Given the description of an element on the screen output the (x, y) to click on. 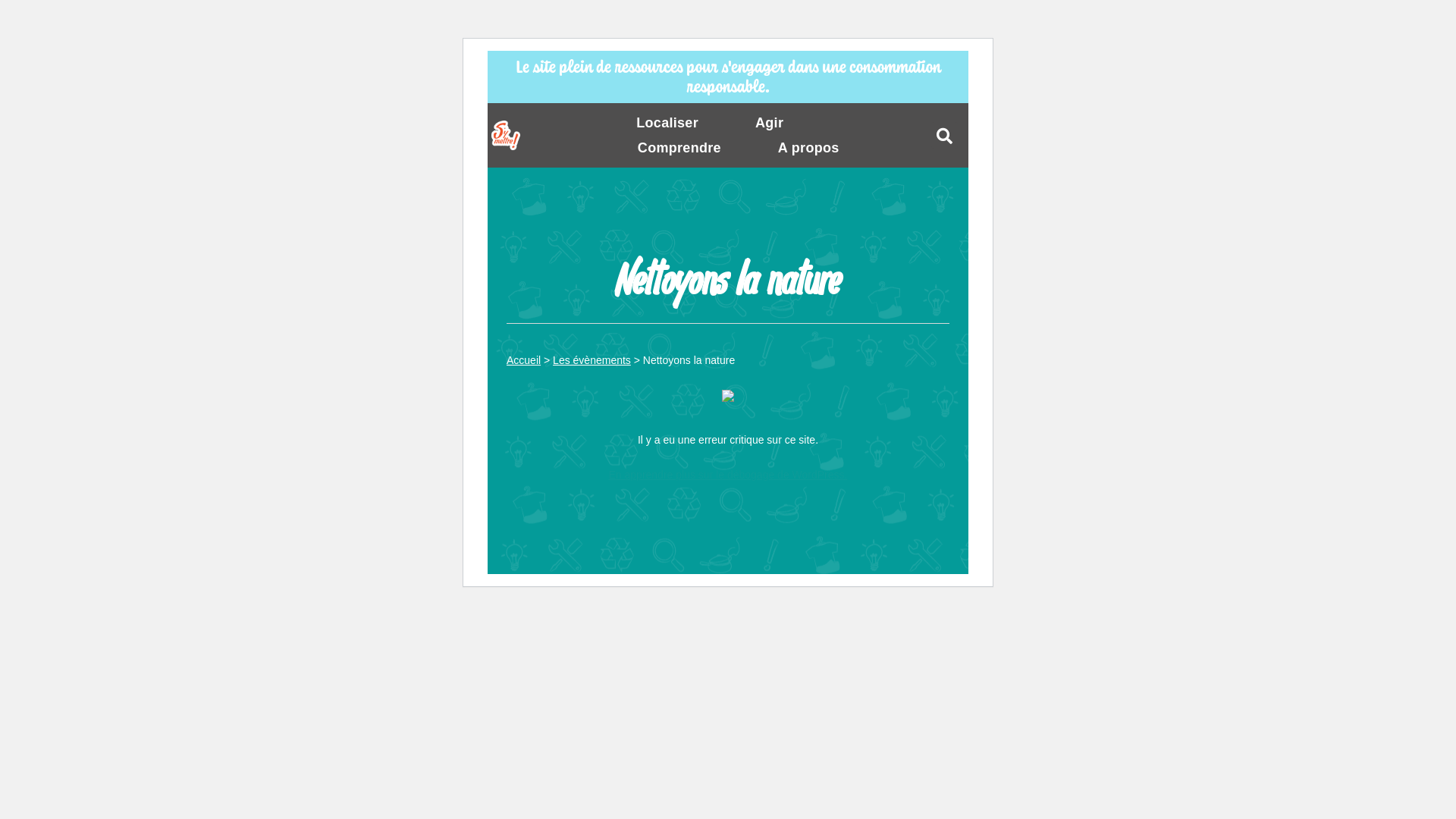
Accueil Element type: text (523, 360)
Comprendre Element type: text (679, 147)
Agir Element type: text (769, 122)
Localiser Element type: text (667, 122)
A propos Element type: text (808, 147)
